Given the description of an element on the screen output the (x, y) to click on. 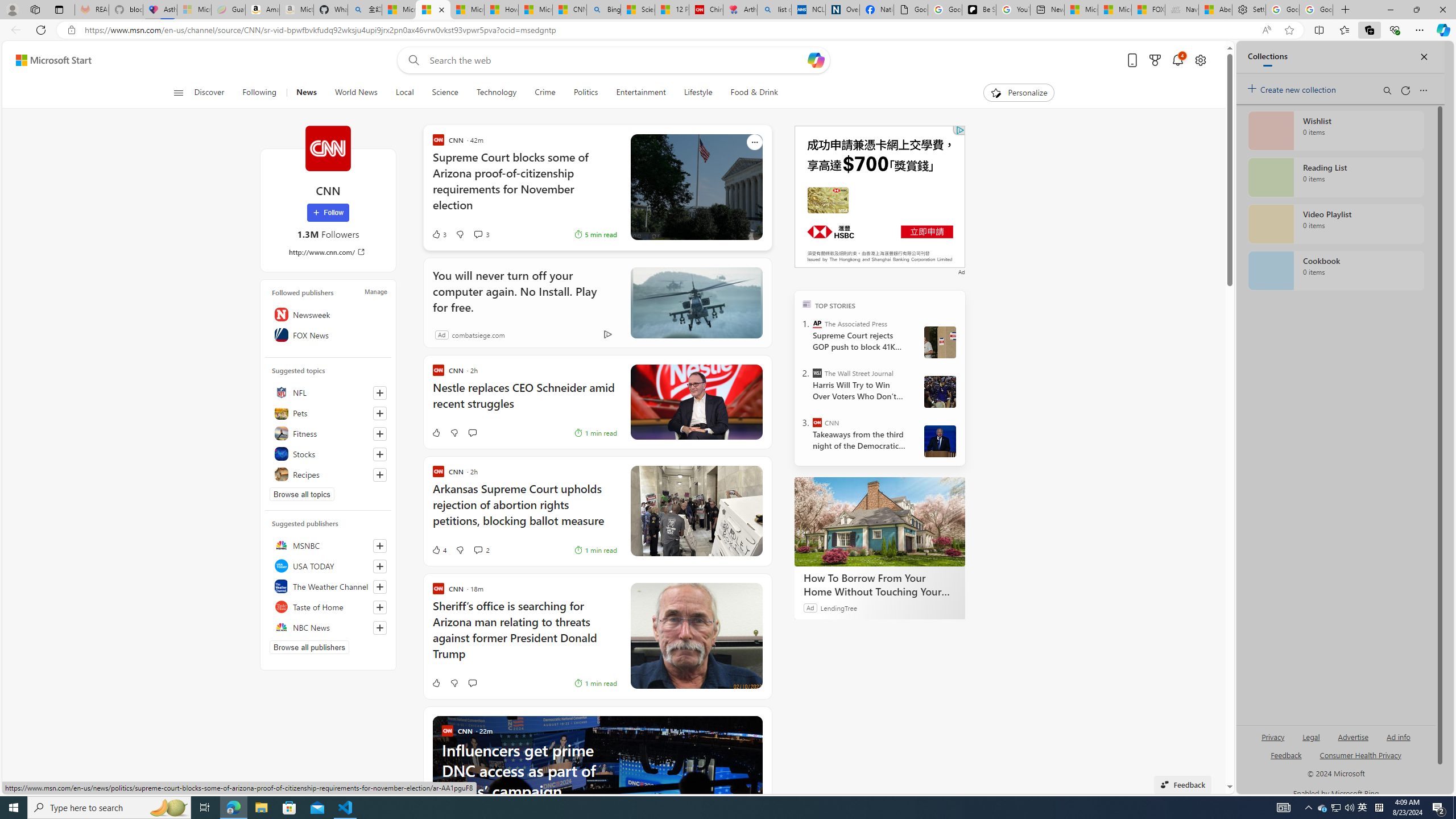
See more (753, 723)
3 Like (438, 233)
Follow this topic (379, 474)
Arthritis: Ask Health Professionals (739, 9)
Politics (585, 92)
Address and search bar (669, 29)
CNN (816, 422)
View comments 2 Comment (478, 549)
Crime (544, 92)
Recipes (327, 474)
Class: button-glyph (178, 92)
